Given the description of an element on the screen output the (x, y) to click on. 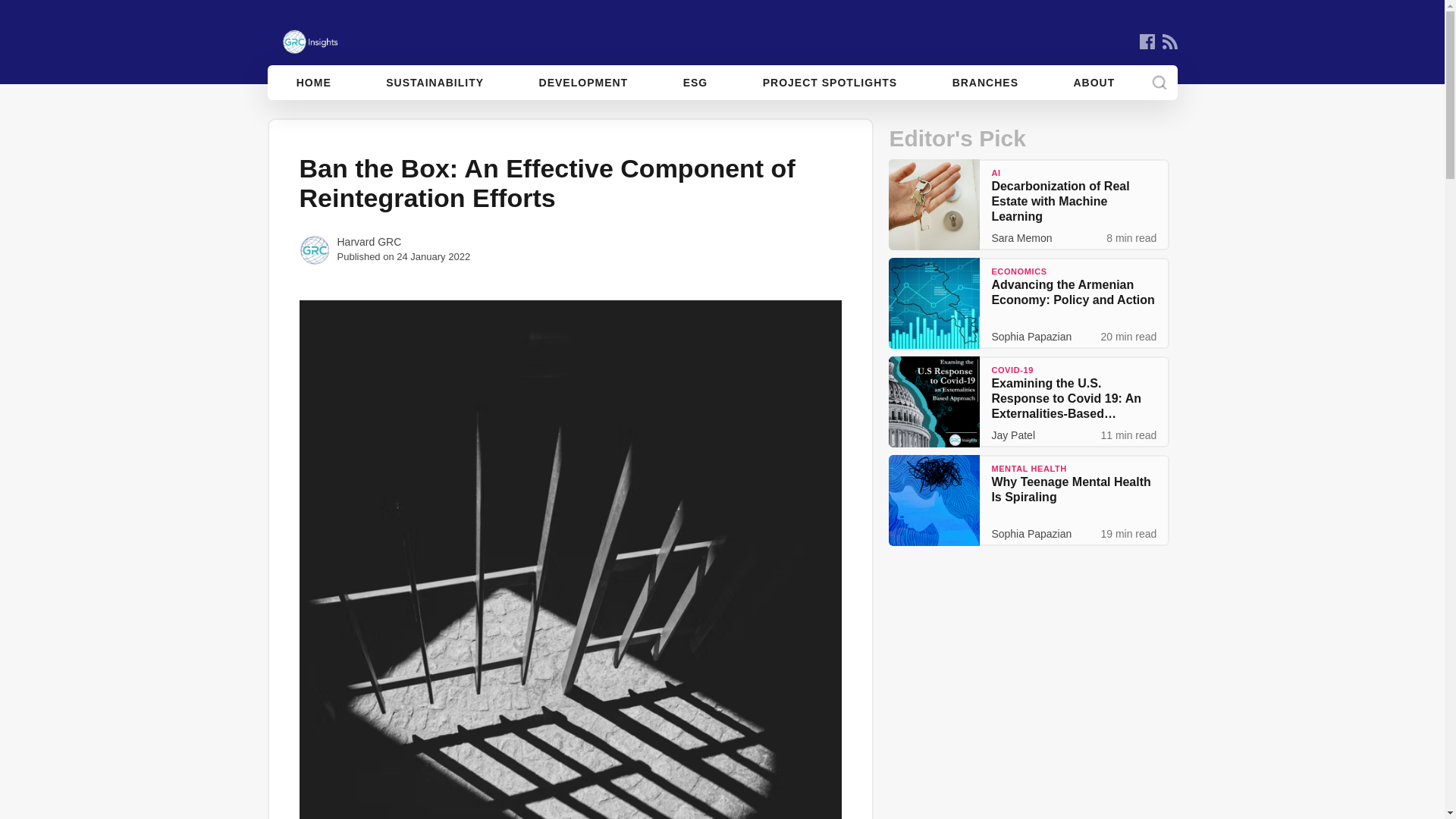
Sara Memon (1021, 237)
BRANCHES (984, 82)
ABOUT (1094, 82)
Why Teenage Mental Health Is Spiraling (1070, 488)
RSS icon (1168, 41)
Facebook icon (1146, 41)
Facebook icon (1146, 41)
DEVELOPMENT (583, 82)
Jay Patel (1013, 435)
HOME (314, 82)
MENTAL HEALTH (1028, 468)
PROJECT SPOTLIGHTS (829, 82)
Harvard GRC (365, 250)
RSS icon (1168, 41)
ECONOMICS (1018, 271)
